Given the description of an element on the screen output the (x, y) to click on. 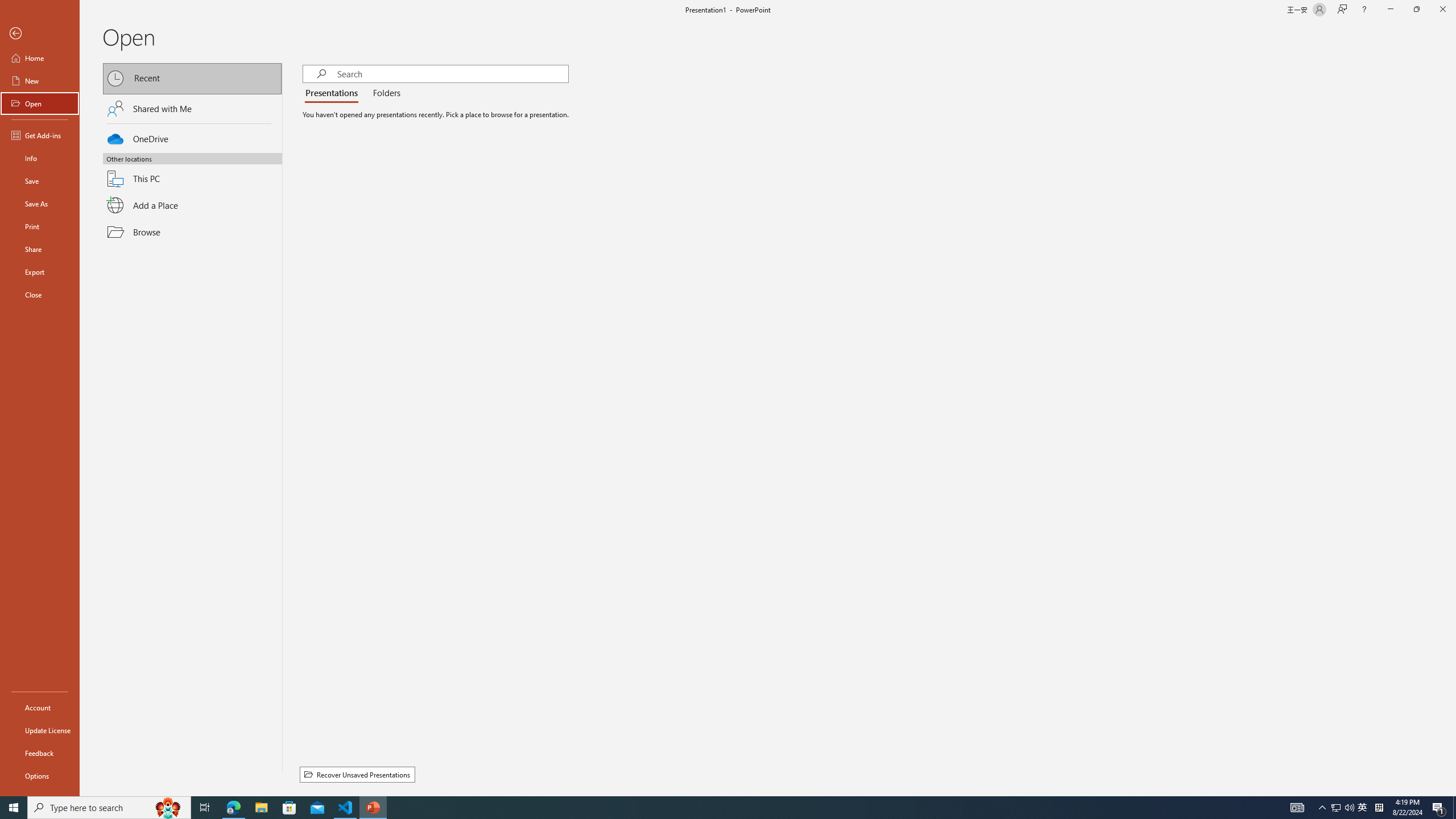
Feedback (40, 753)
Save As (40, 203)
Options (40, 775)
Presentations (333, 93)
Add a Place (192, 204)
This PC (192, 171)
Print (40, 225)
Export (40, 271)
Recover Unsaved Presentations (356, 774)
